Given the description of an element on the screen output the (x, y) to click on. 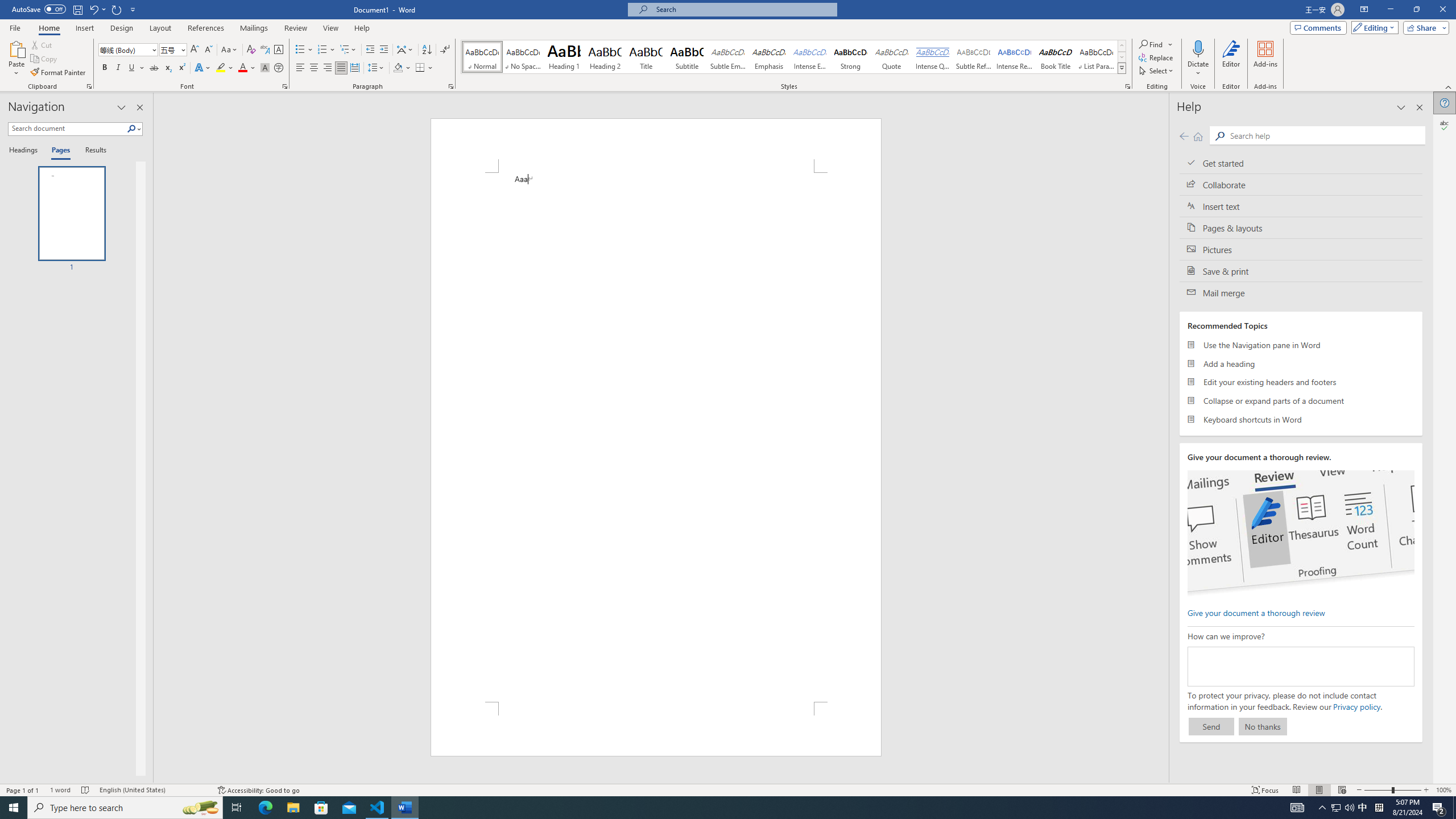
Comments (1318, 27)
Save & print (1300, 270)
Web Layout (1342, 790)
Subtle Emphasis (727, 56)
Intense Emphasis (809, 56)
Subtitle (686, 56)
Text Highlight Color (224, 67)
Styles... (1127, 85)
Quick Access Toolbar (74, 9)
